Given the description of an element on the screen output the (x, y) to click on. 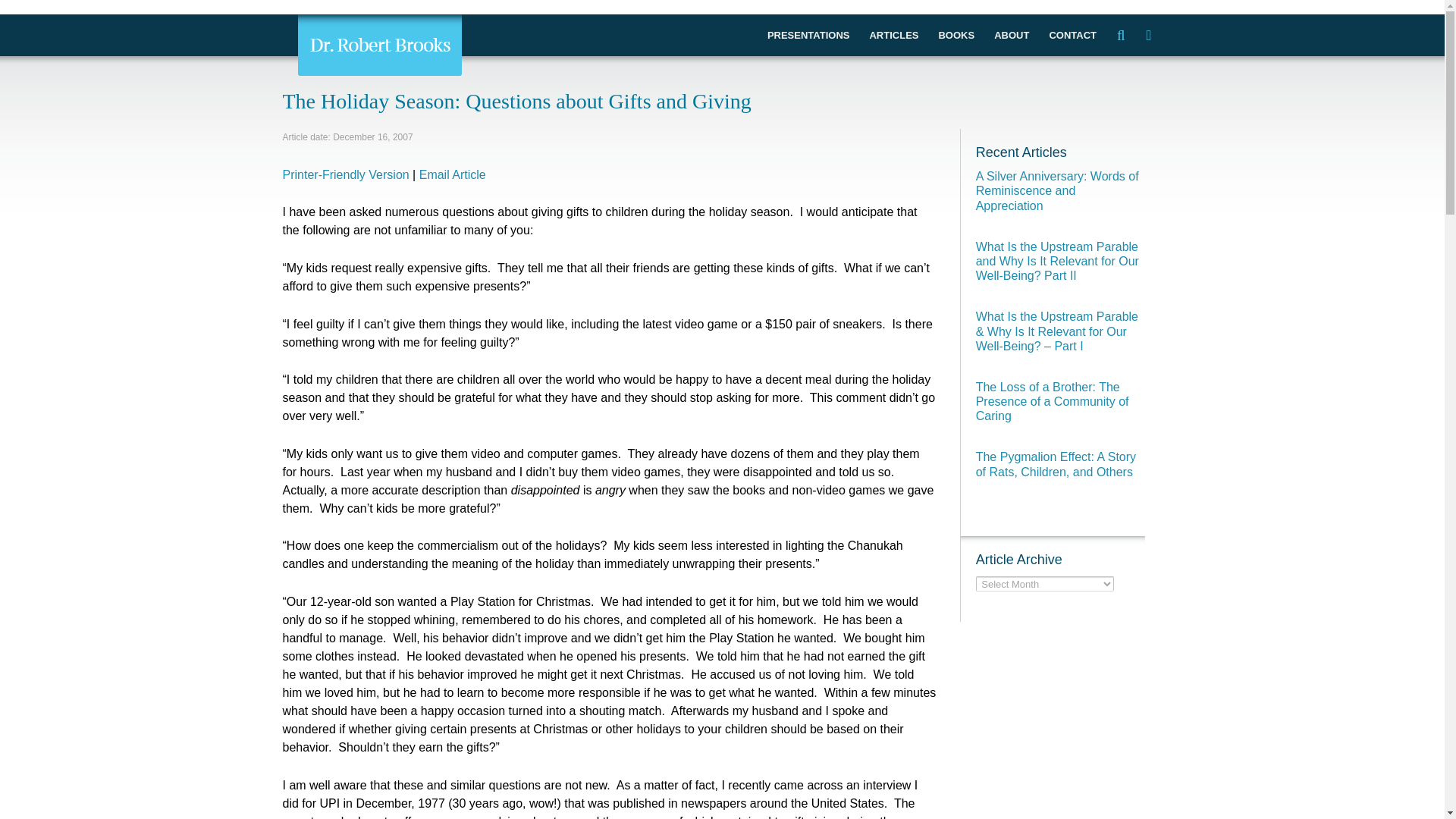
CONTACT (1072, 35)
BOOKS (956, 35)
PRESENTATIONS (808, 35)
ABOUT (1011, 35)
ARTICLES (893, 35)
Printer-Friendly Version (345, 174)
A Silver Anniversary: Words of Reminiscence and Appreciation (1056, 190)
Email Article (452, 174)
The Loss of a Brother: The Presence of a Community of Caring (1052, 401)
The Pygmalion Effect: A Story of Rats, Children, and Others (1055, 463)
